Given the description of an element on the screen output the (x, y) to click on. 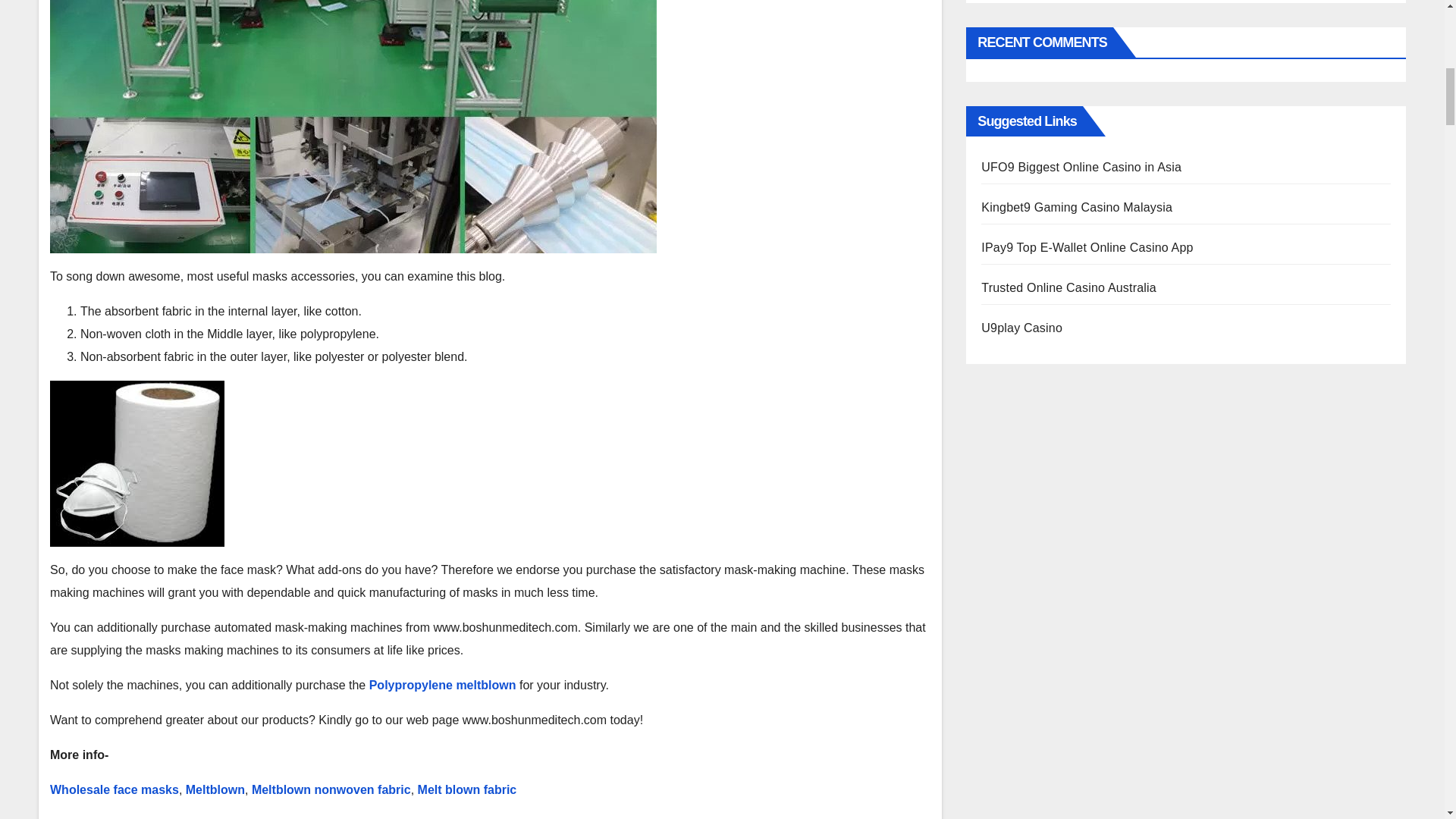
bric (505, 789)
Wholesale face mask (110, 789)
Melt blown fa (456, 789)
Meltblown nonwoven fabric (330, 789)
Meltblown (215, 789)
Polypropylene meltblown (442, 684)
